Given the description of an element on the screen output the (x, y) to click on. 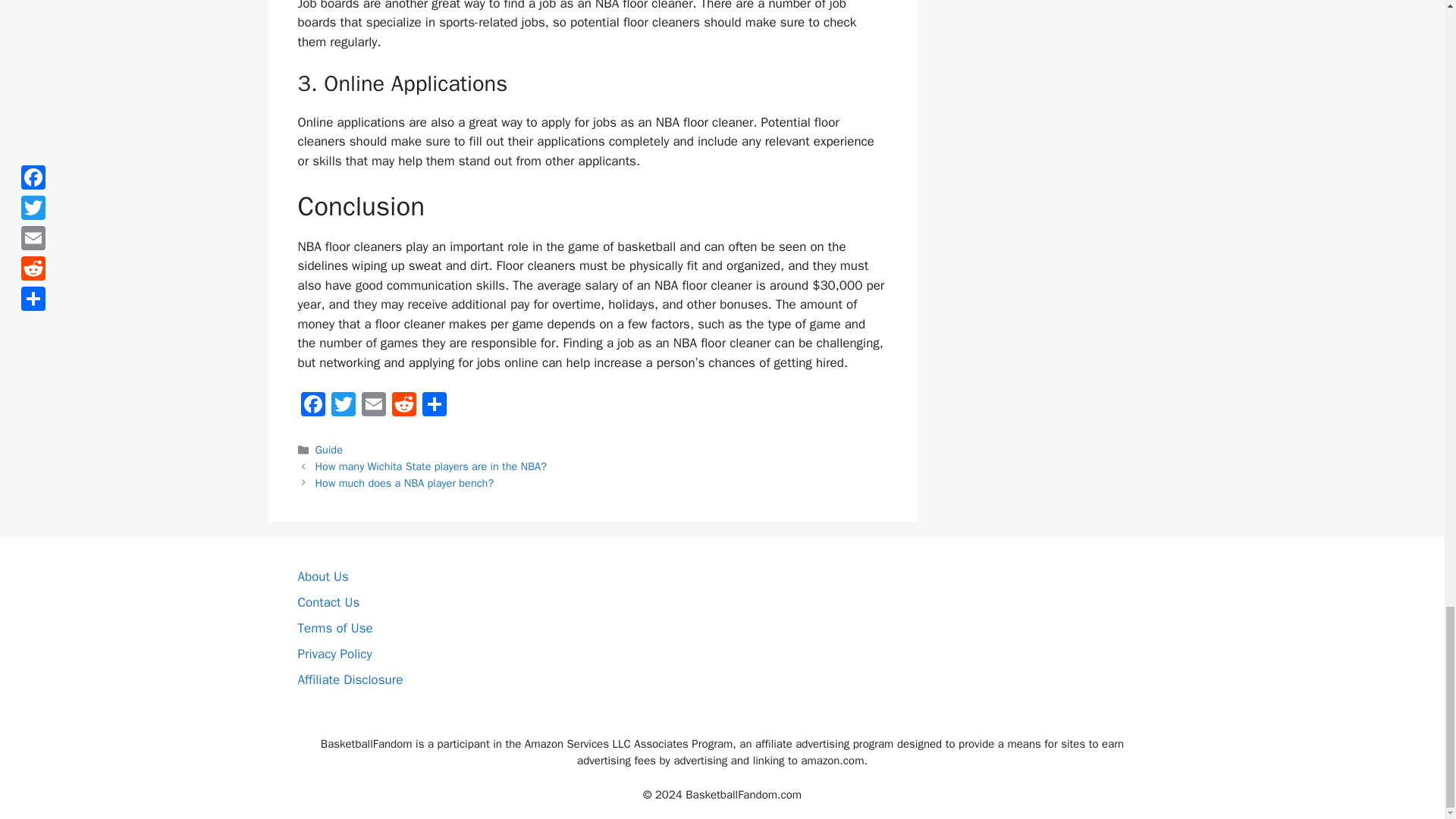
Share (433, 406)
Contact Us (328, 602)
How many Wichita State players are in the NBA? (431, 466)
Email (373, 406)
Guide (328, 449)
Twitter (342, 406)
Privacy Policy (334, 653)
Affiliate Disclosure (350, 679)
Reddit (403, 406)
Reddit (403, 406)
Twitter (342, 406)
Facebook (312, 406)
About Us (322, 576)
Email (373, 406)
Terms of Use (334, 627)
